Given the description of an element on the screen output the (x, y) to click on. 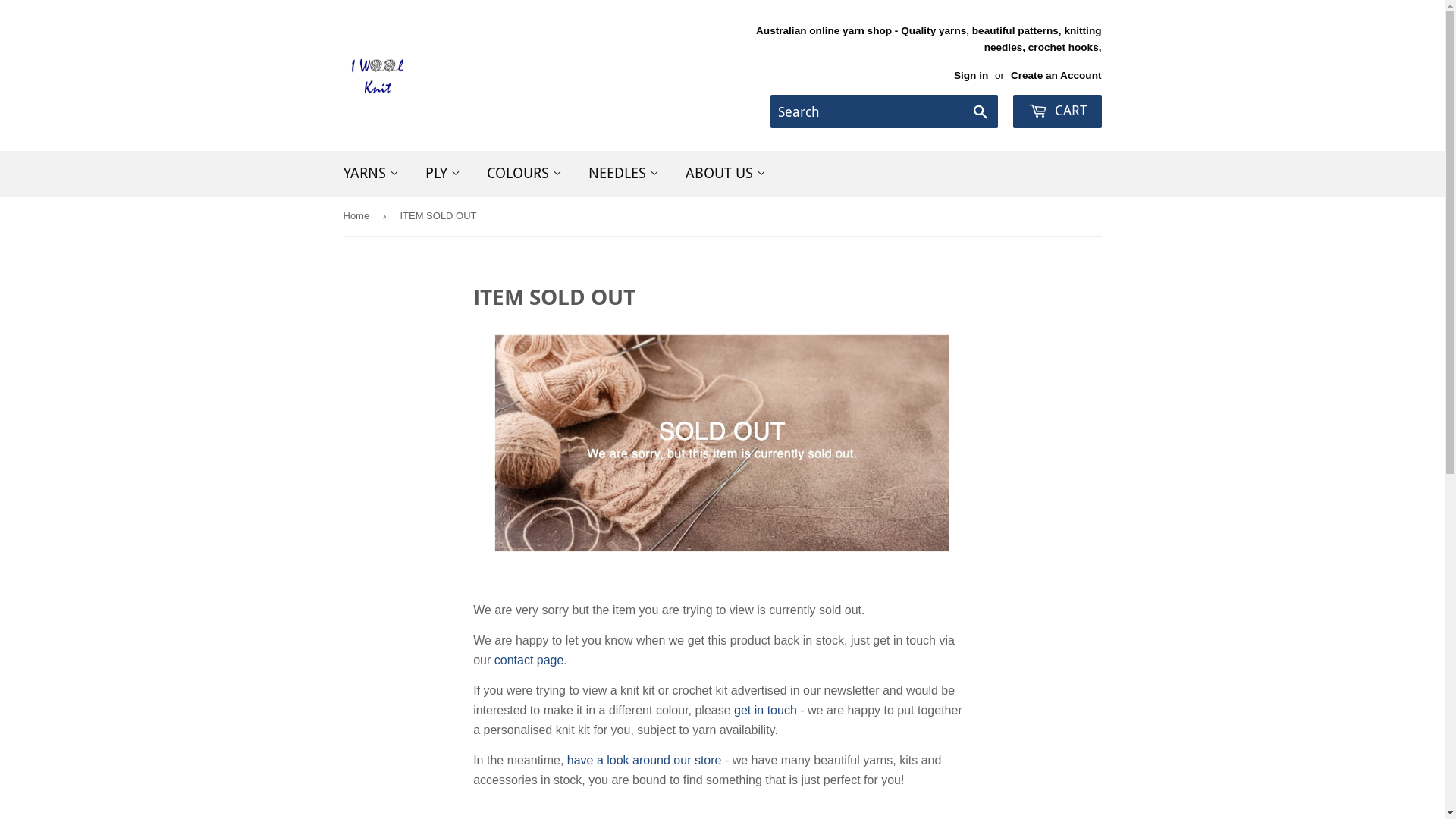
Create an Account Element type: text (1055, 75)
YARNS Element type: text (371, 173)
contact page Element type: text (529, 659)
get in touch Element type: text (765, 709)
Sign in Element type: text (970, 75)
NEEDLES Element type: text (622, 173)
COLOURS Element type: text (523, 173)
Search Element type: text (980, 112)
PLY Element type: text (442, 173)
ABOUT US Element type: text (724, 173)
CART Element type: text (1057, 111)
have a look around our store Element type: text (644, 759)
Home Element type: text (358, 216)
